Given the description of an element on the screen output the (x, y) to click on. 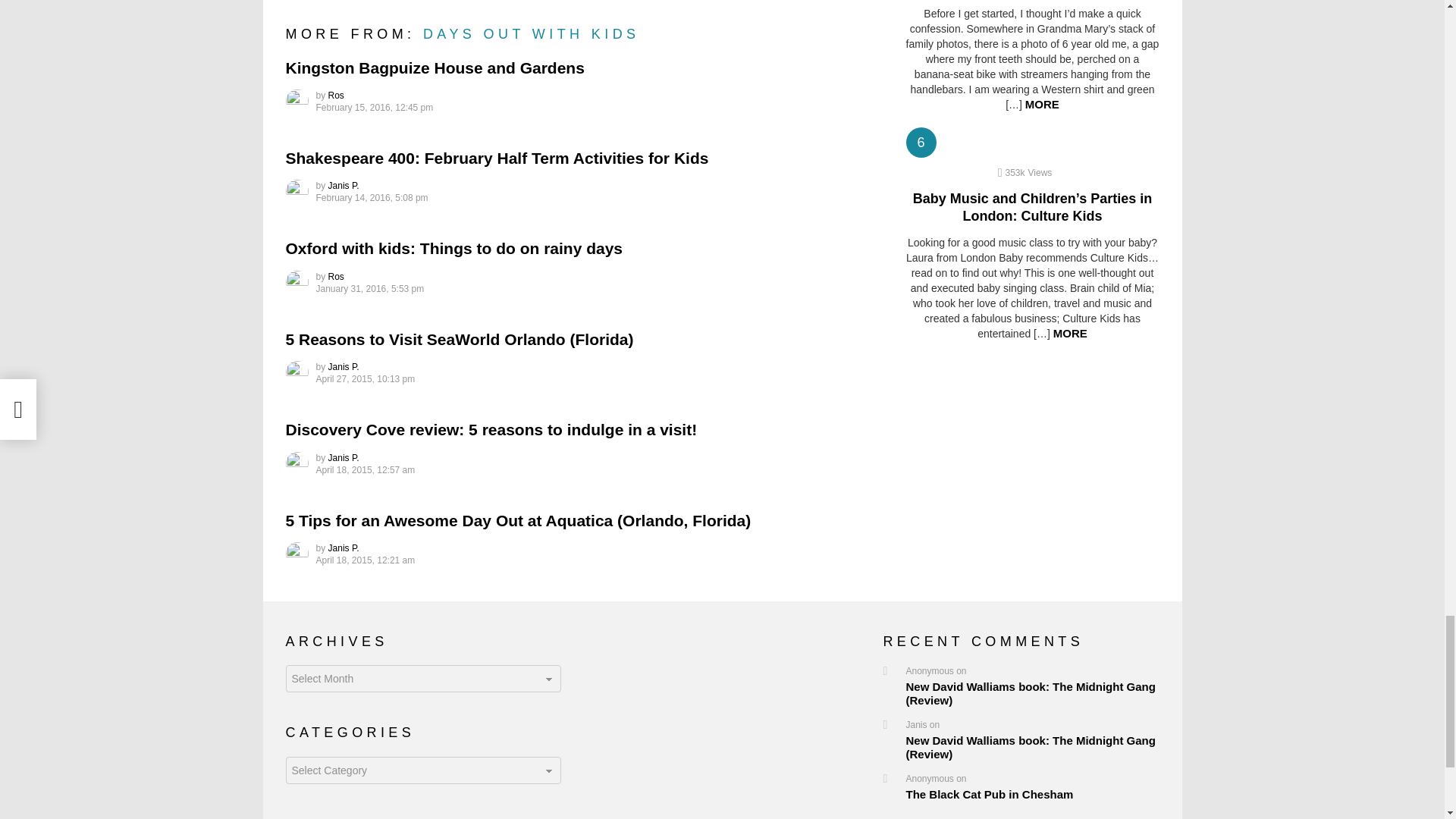
Posts by Ros (336, 276)
Posts by Janis P. (344, 457)
Posts by Ros (336, 95)
Posts by Janis P. (344, 185)
Posts by Janis P. (344, 547)
Posts by Janis P. (344, 366)
